Given the description of an element on the screen output the (x, y) to click on. 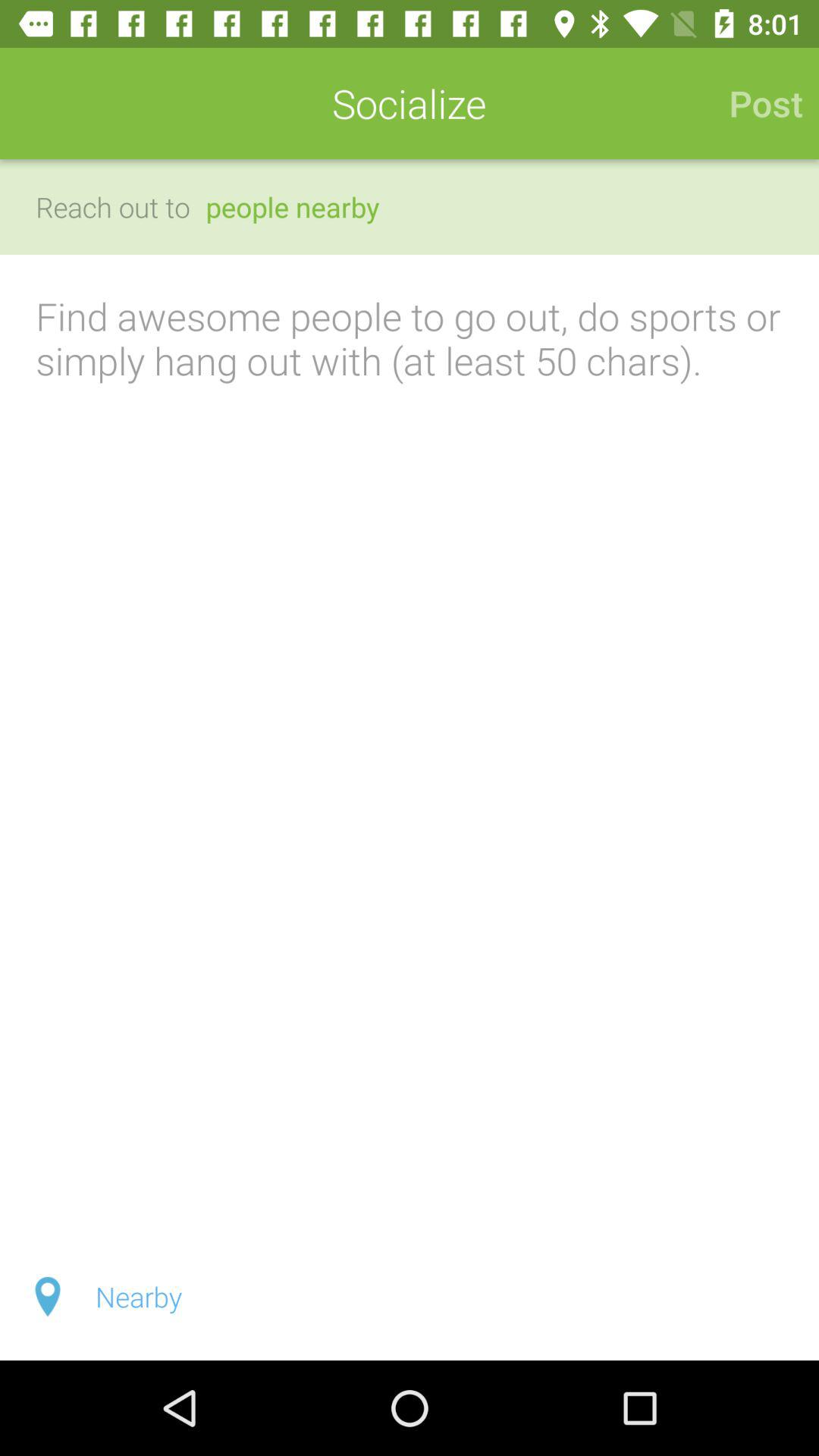
tap item at the top right corner (758, 103)
